Given the description of an element on the screen output the (x, y) to click on. 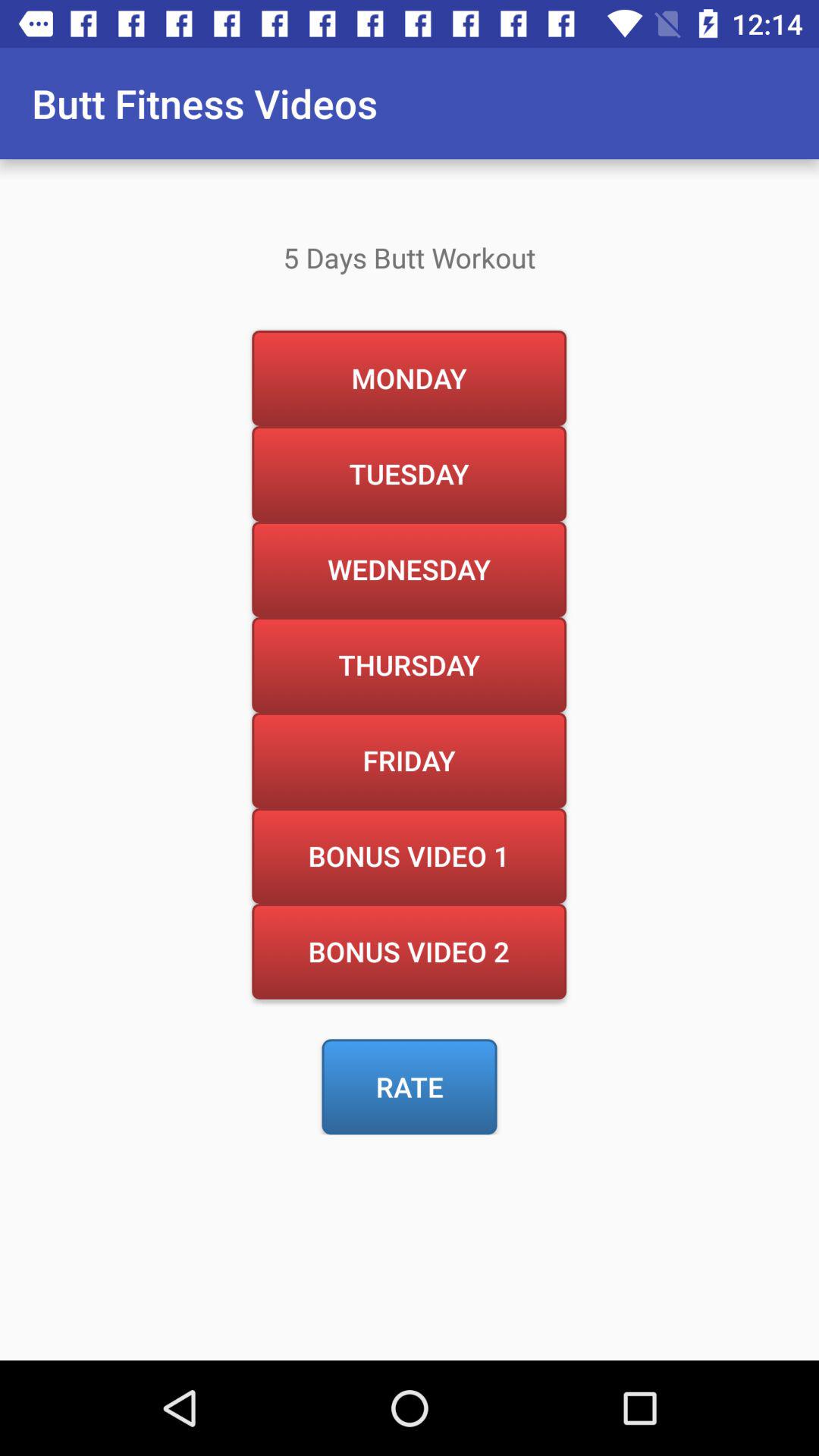
turn on the thursday (408, 664)
